Given the description of an element on the screen output the (x, y) to click on. 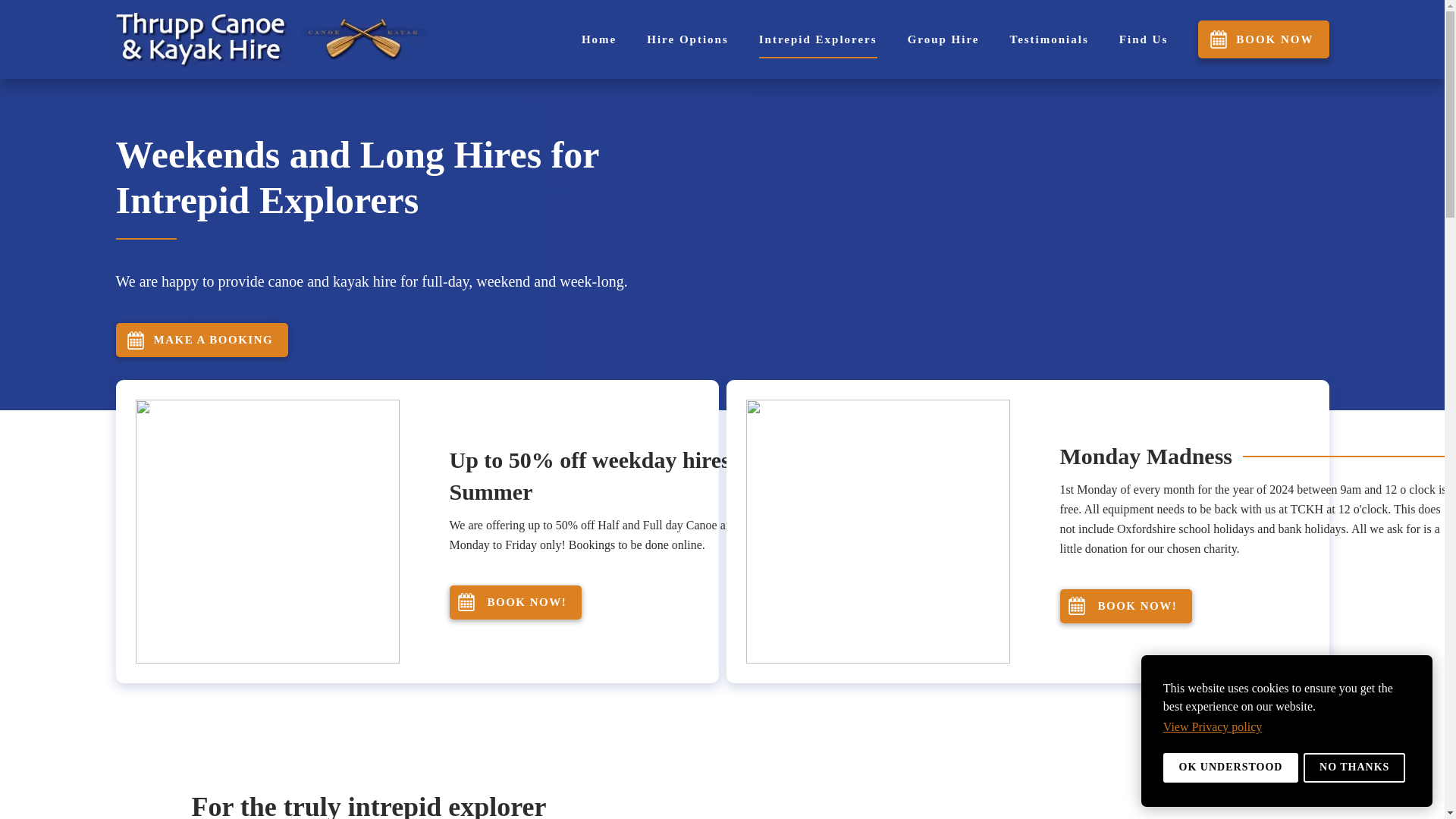
Home (597, 39)
OK UNDERSTOOD (1230, 767)
MAKE A BOOKING (201, 339)
BOOK NOW! (514, 602)
Testimonials (1049, 39)
For the truly intrepid explorer (477, 804)
Group Hire (943, 39)
BOOK NOW (1262, 39)
NO THANKS (1354, 767)
